Given the description of an element on the screen output the (x, y) to click on. 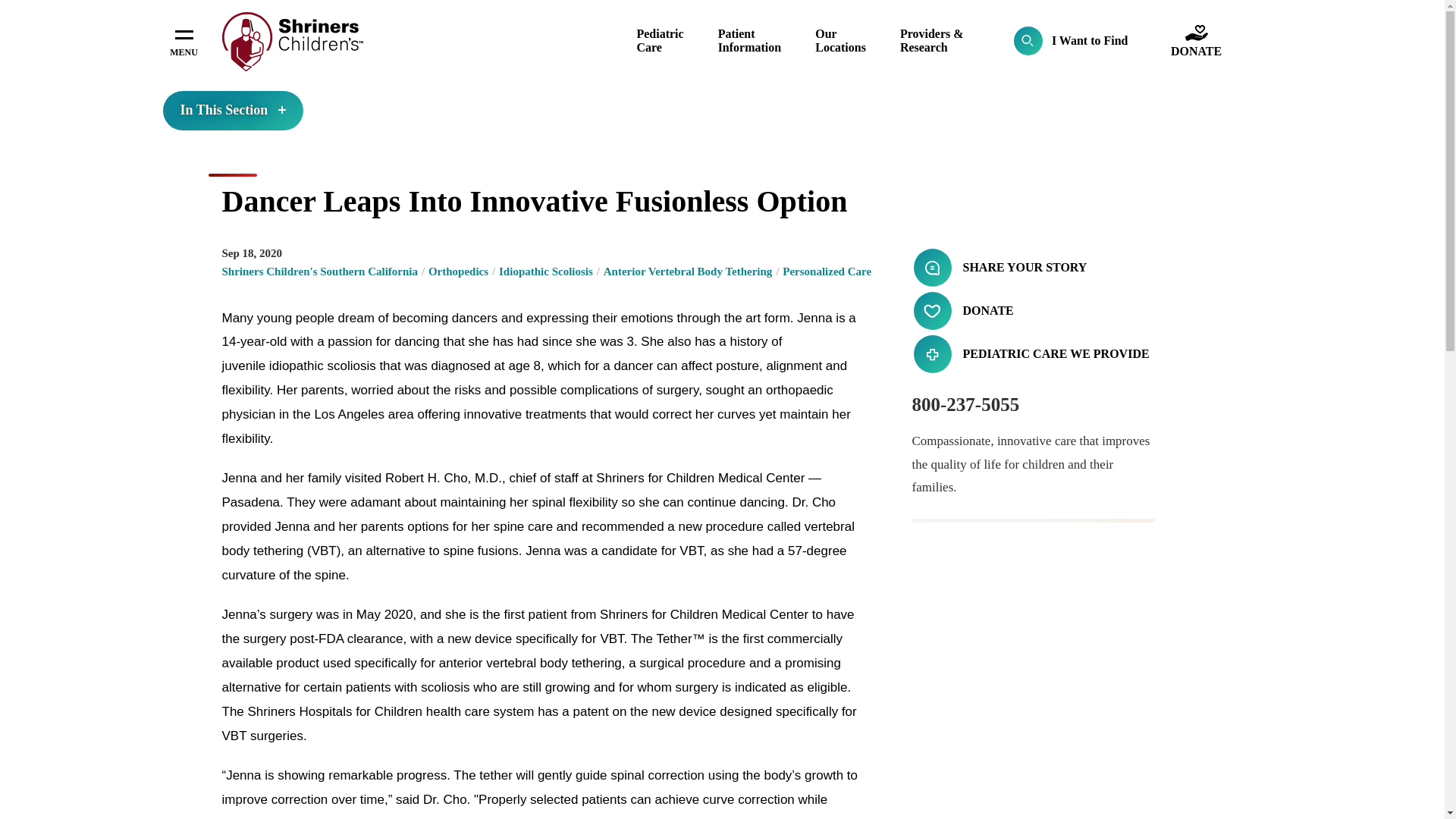
Patient Information (749, 40)
Our Locations (840, 40)
Pediatric Care (659, 40)
I Want to Find (1070, 40)
MENU (183, 40)
